Given the description of an element on the screen output the (x, y) to click on. 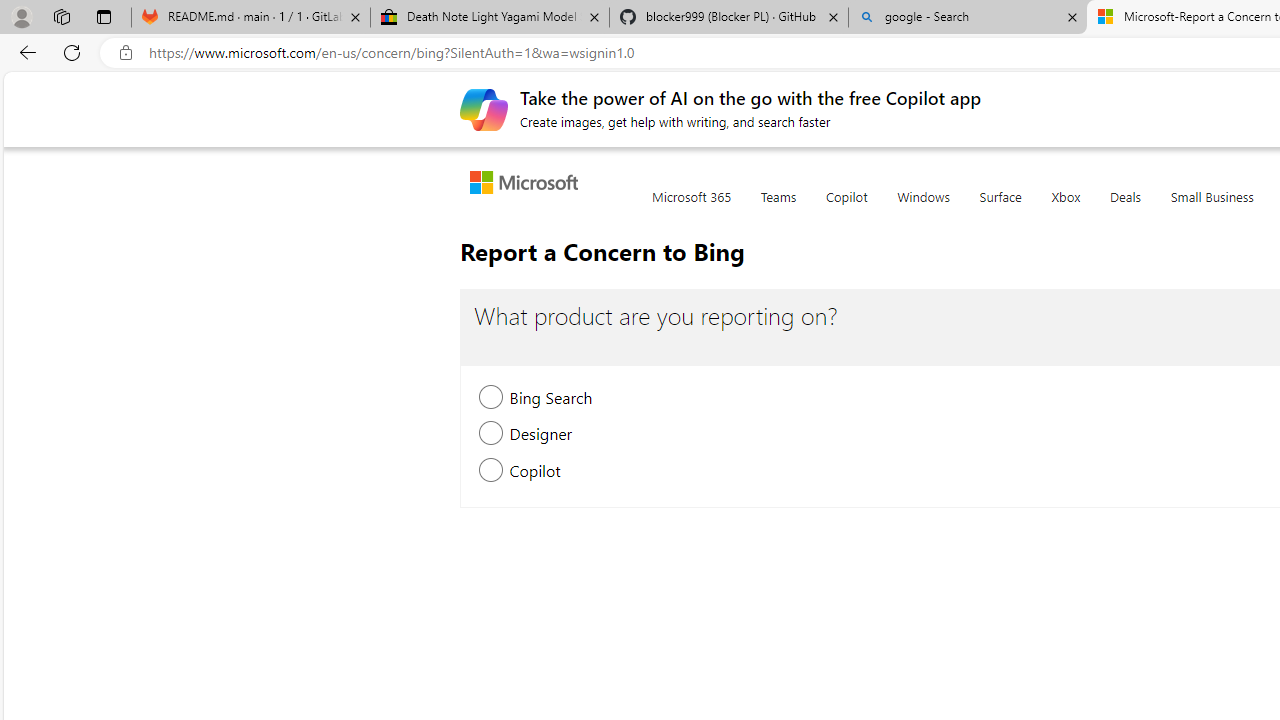
Workspaces (61, 16)
Designer, new section will be expanded (491, 435)
Bing Search, new section will be expanded (491, 399)
Copilot (845, 207)
Create images, get help with writing, and search faster (483, 108)
Teams (778, 208)
Microsoft 365 (691, 208)
Deals (1124, 208)
Windows (923, 208)
Small Business (1211, 208)
Xbox (1065, 208)
